Given the description of an element on the screen output the (x, y) to click on. 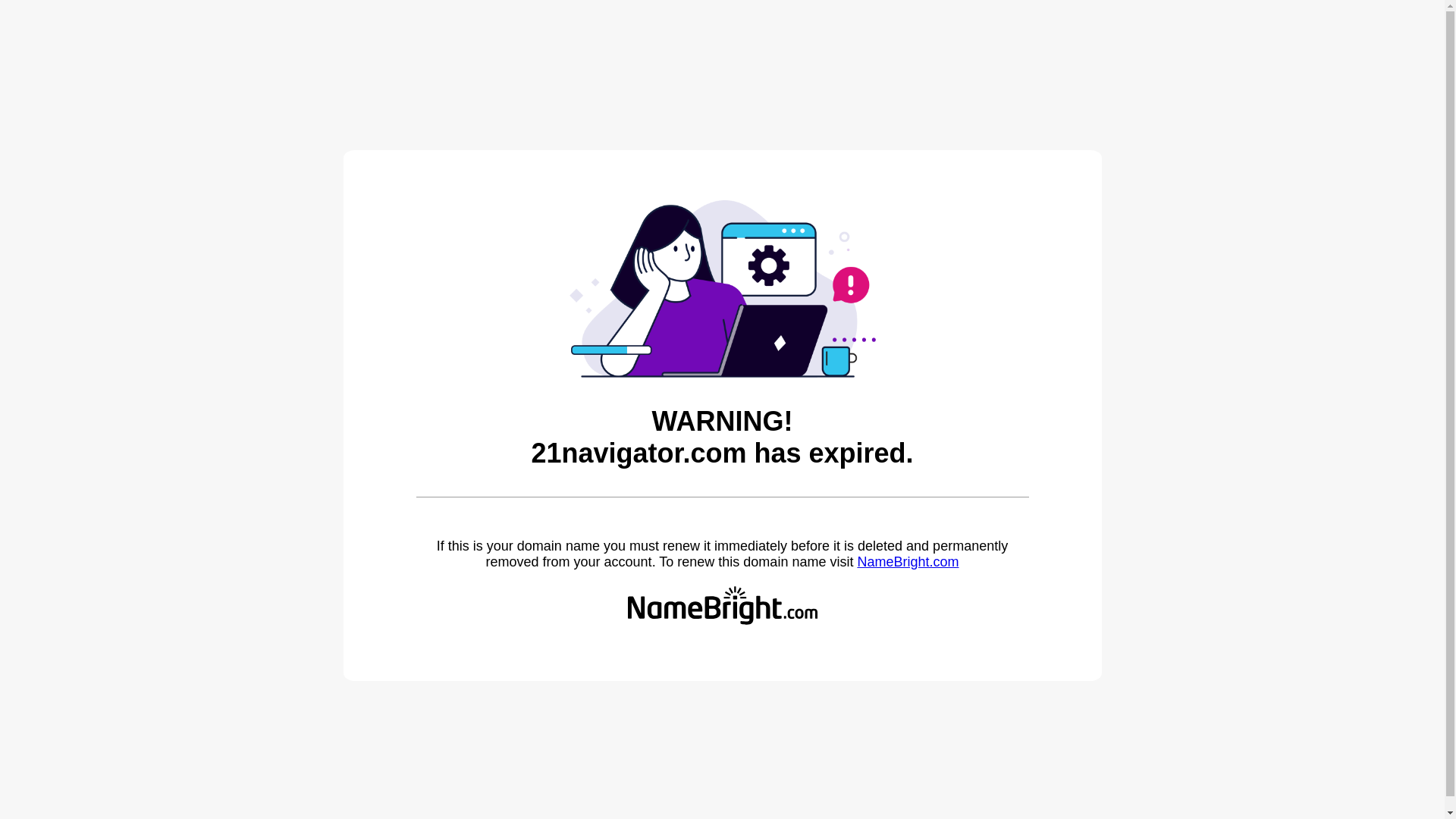
NameBright.com Element type: text (907, 561)
